Given the description of an element on the screen output the (x, y) to click on. 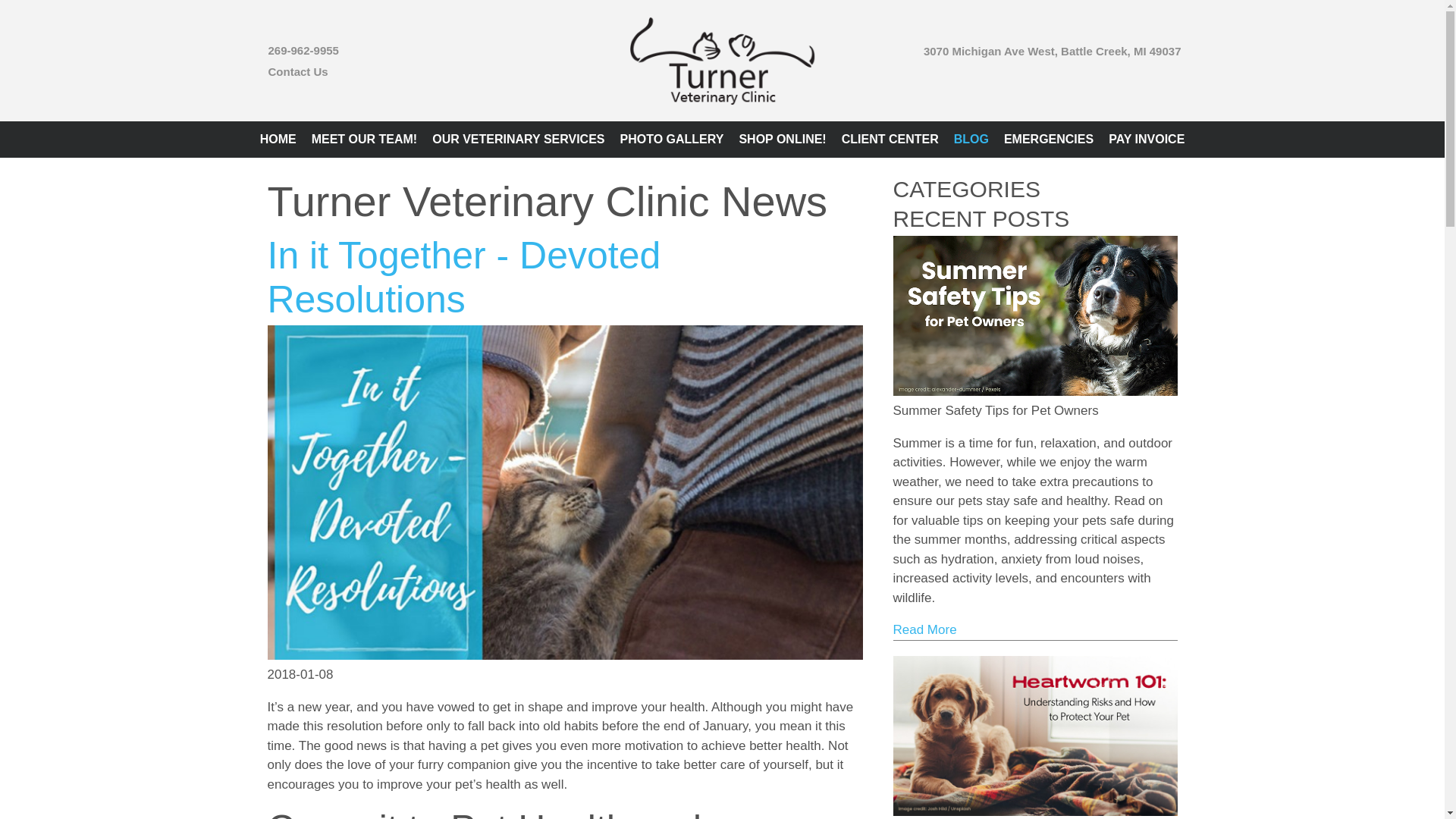
HOME (277, 139)
SHOP ONLINE! (781, 139)
PHOTO GALLERY (672, 139)
MEET OUR TEAM! (364, 139)
Read More (924, 629)
PAY INVOICE (1146, 139)
Contact Us (298, 71)
In it Together - Devoted Resolutions (463, 277)
BLOG (970, 139)
CLIENT CENTER (890, 139)
EMERGENCIES (1047, 139)
OUR VETERINARY SERVICES (518, 139)
